Given the description of an element on the screen output the (x, y) to click on. 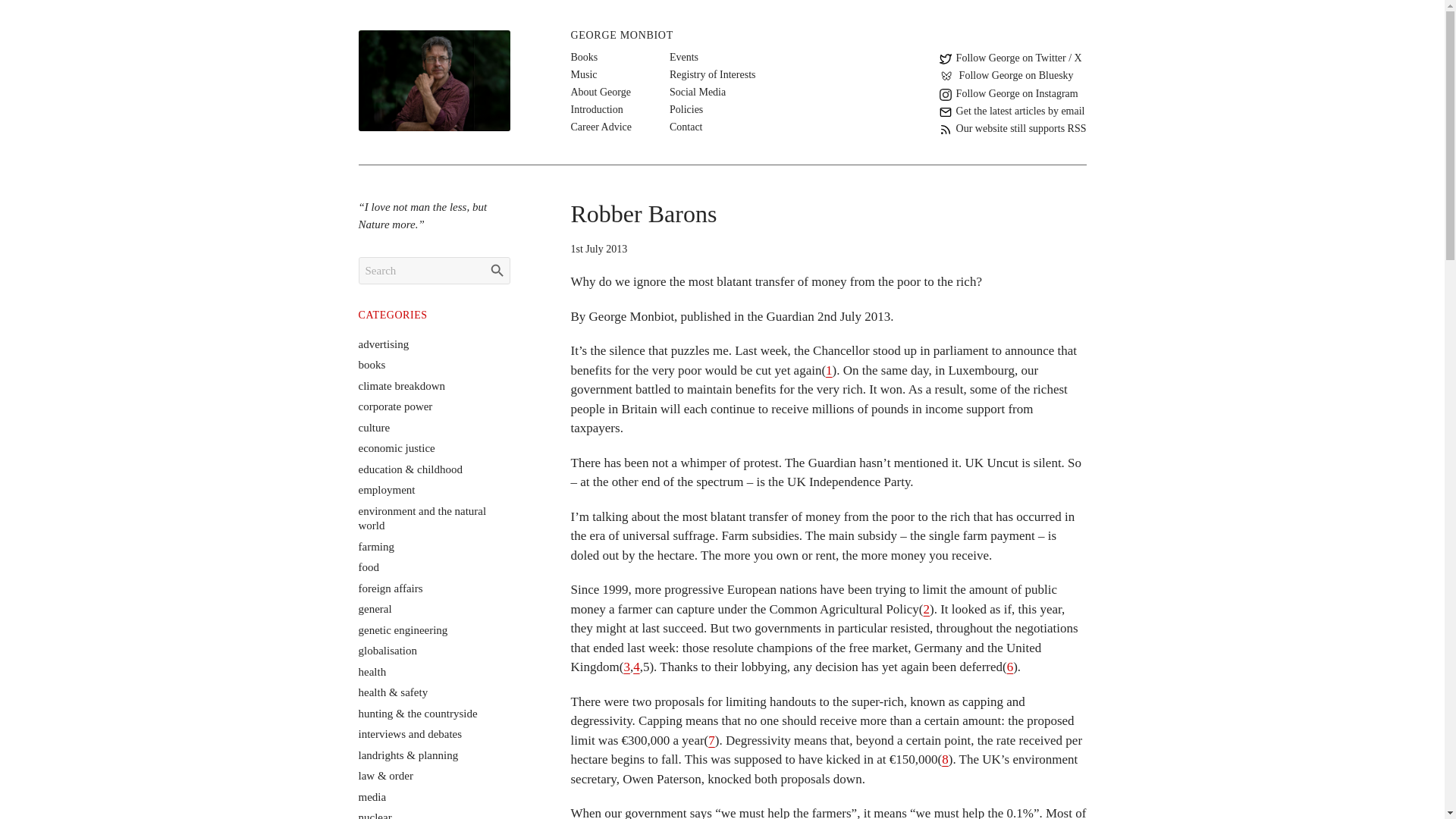
Search (496, 270)
GEORGE MONBIOT (621, 35)
Policies (686, 109)
Career Advice (600, 126)
books (371, 364)
Registry of Interests (712, 74)
Books (583, 57)
Follow George on Bluesky (1006, 75)
Our website still supports RSS (1012, 128)
advertising (383, 344)
